Given the description of an element on the screen output the (x, y) to click on. 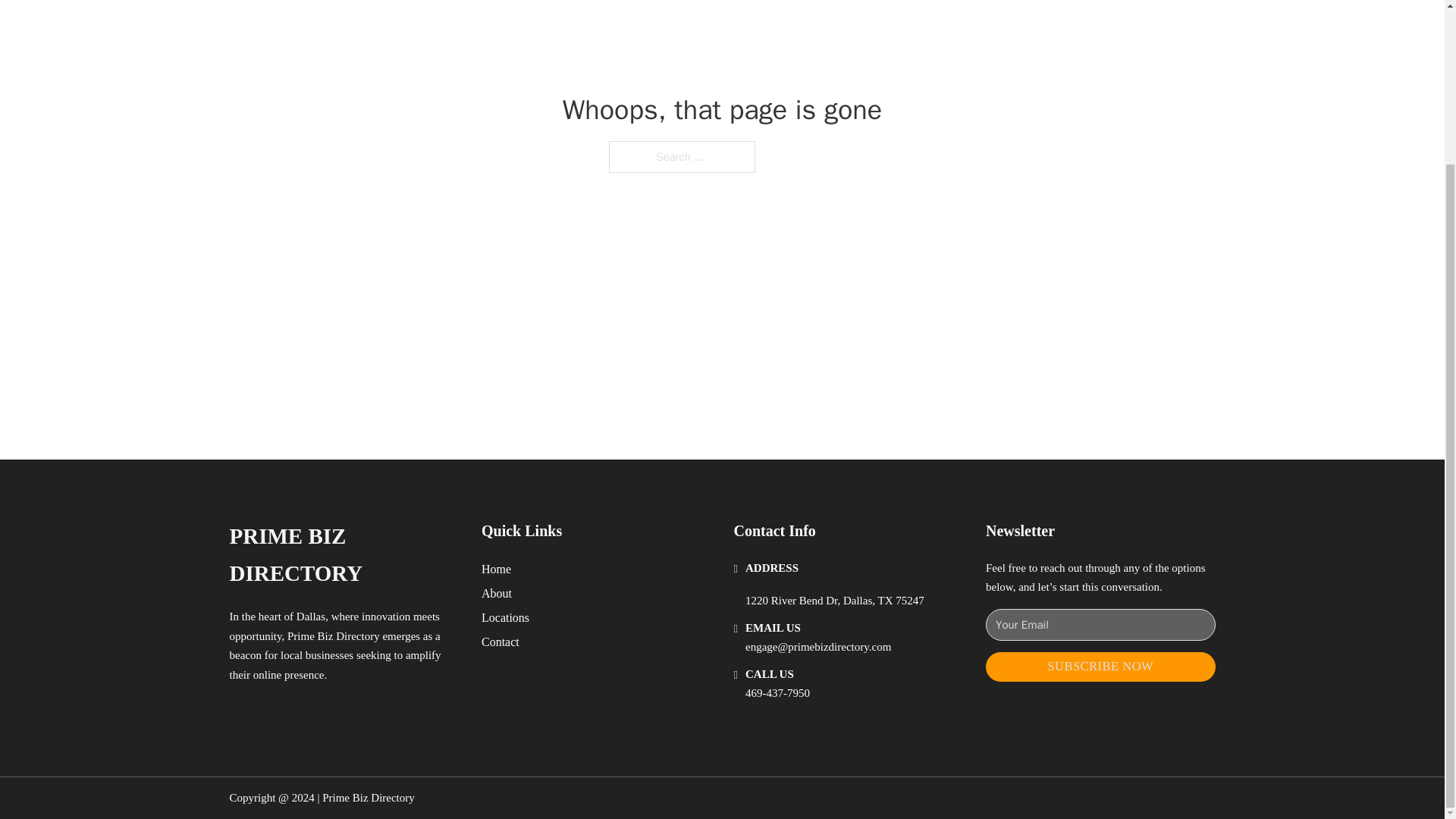
Locations (505, 617)
PRIME BIZ DIRECTORY (343, 554)
Contact (500, 641)
Home (496, 568)
About (496, 593)
469-437-7950 (777, 693)
SUBSCRIBE NOW (1100, 666)
